Given the description of an element on the screen output the (x, y) to click on. 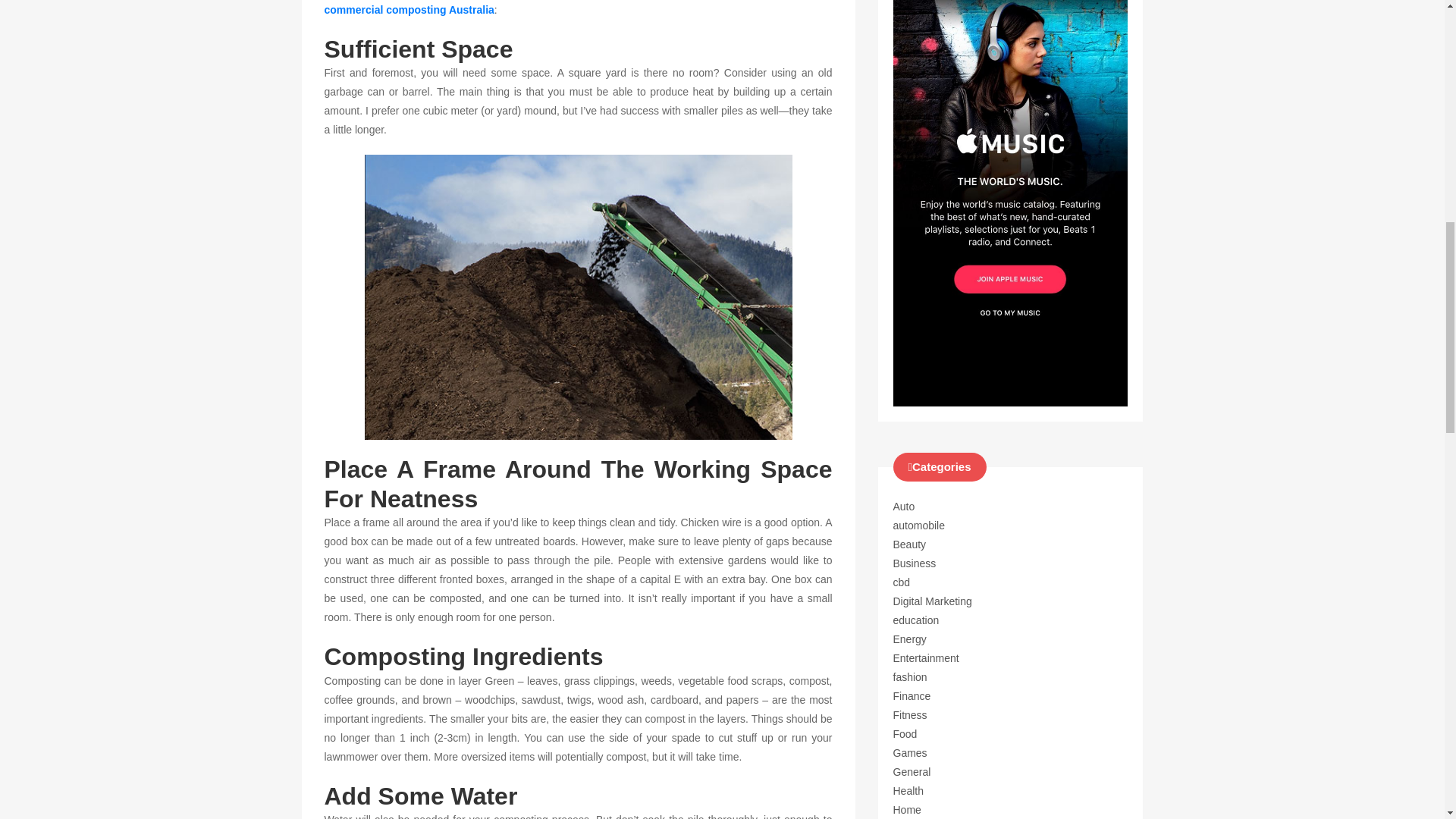
Beauty (909, 544)
Business (914, 563)
Fitness (910, 715)
Finance (912, 695)
Auto (904, 506)
Energy (909, 639)
automobile (918, 525)
fashion (910, 676)
Food (905, 734)
education (916, 620)
